Given the description of an element on the screen output the (x, y) to click on. 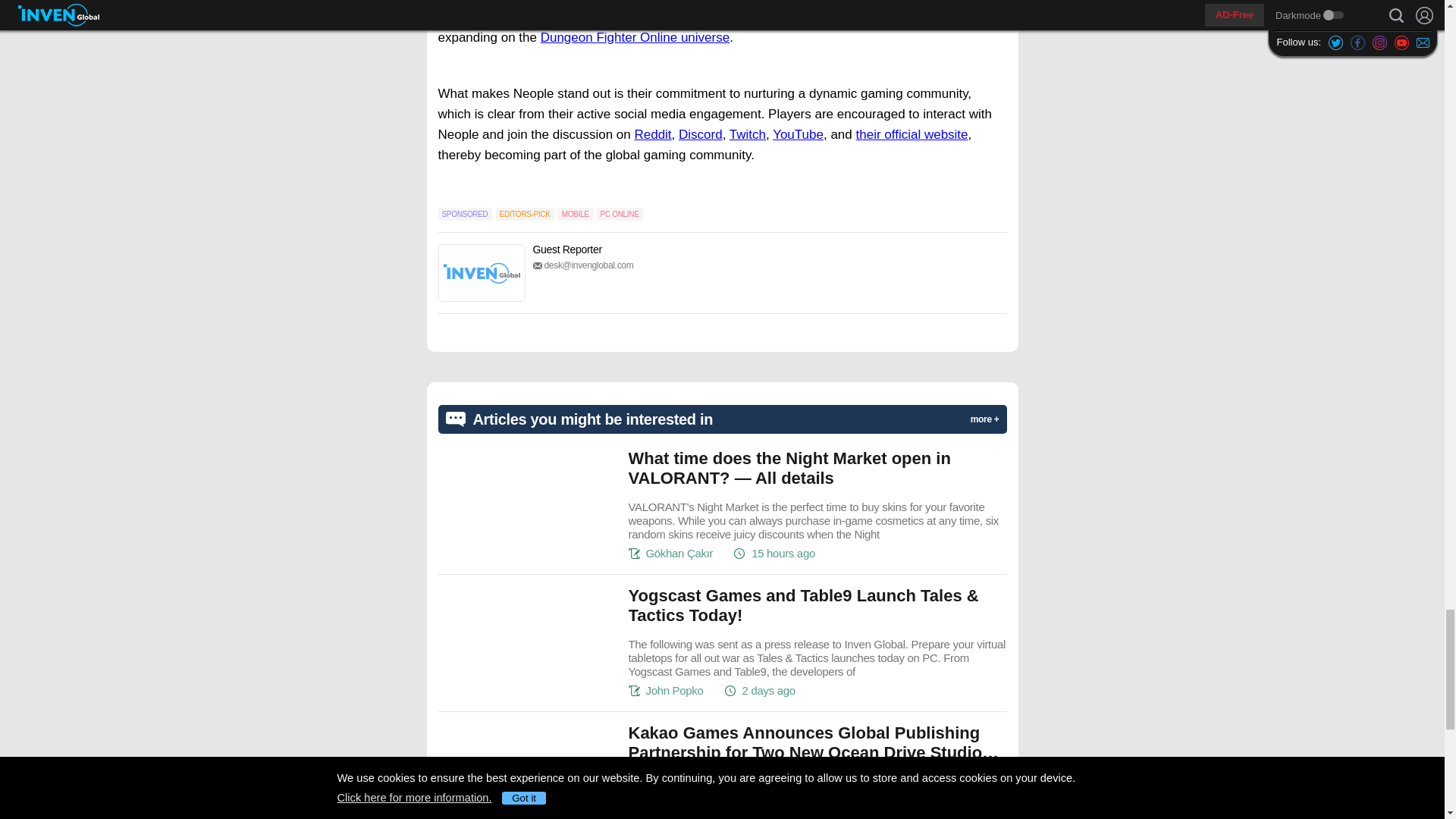
Twitch (747, 134)
Discord (700, 134)
Reddit (652, 134)
YouTube (798, 134)
Dungeon Fighter Online universe (634, 37)
